Given the description of an element on the screen output the (x, y) to click on. 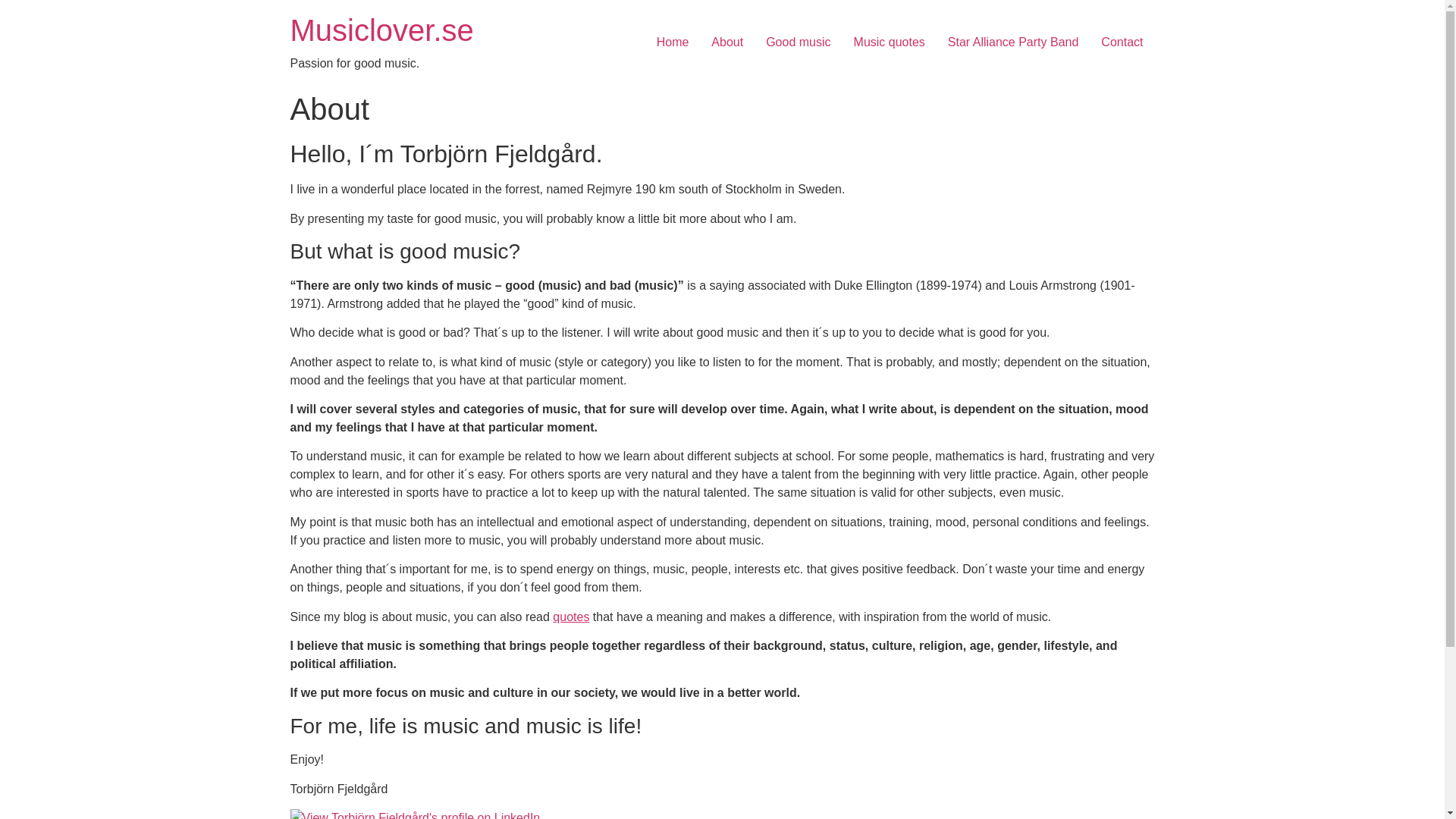
About (727, 42)
Music quotes (889, 42)
about-me-torbjorn-fjeldgard (727, 42)
Home (672, 42)
Star Alliance Party Band (1013, 42)
music quotes (571, 615)
Home (381, 29)
good music (797, 42)
who-to-contact (1121, 42)
quotes (571, 615)
